Given the description of an element on the screen output the (x, y) to click on. 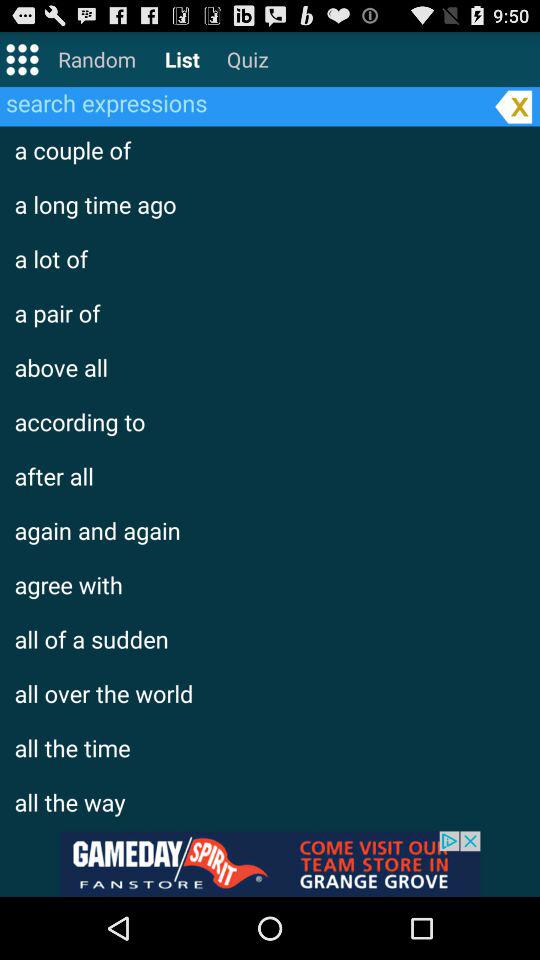
click to view advertisement (270, 864)
